Given the description of an element on the screen output the (x, y) to click on. 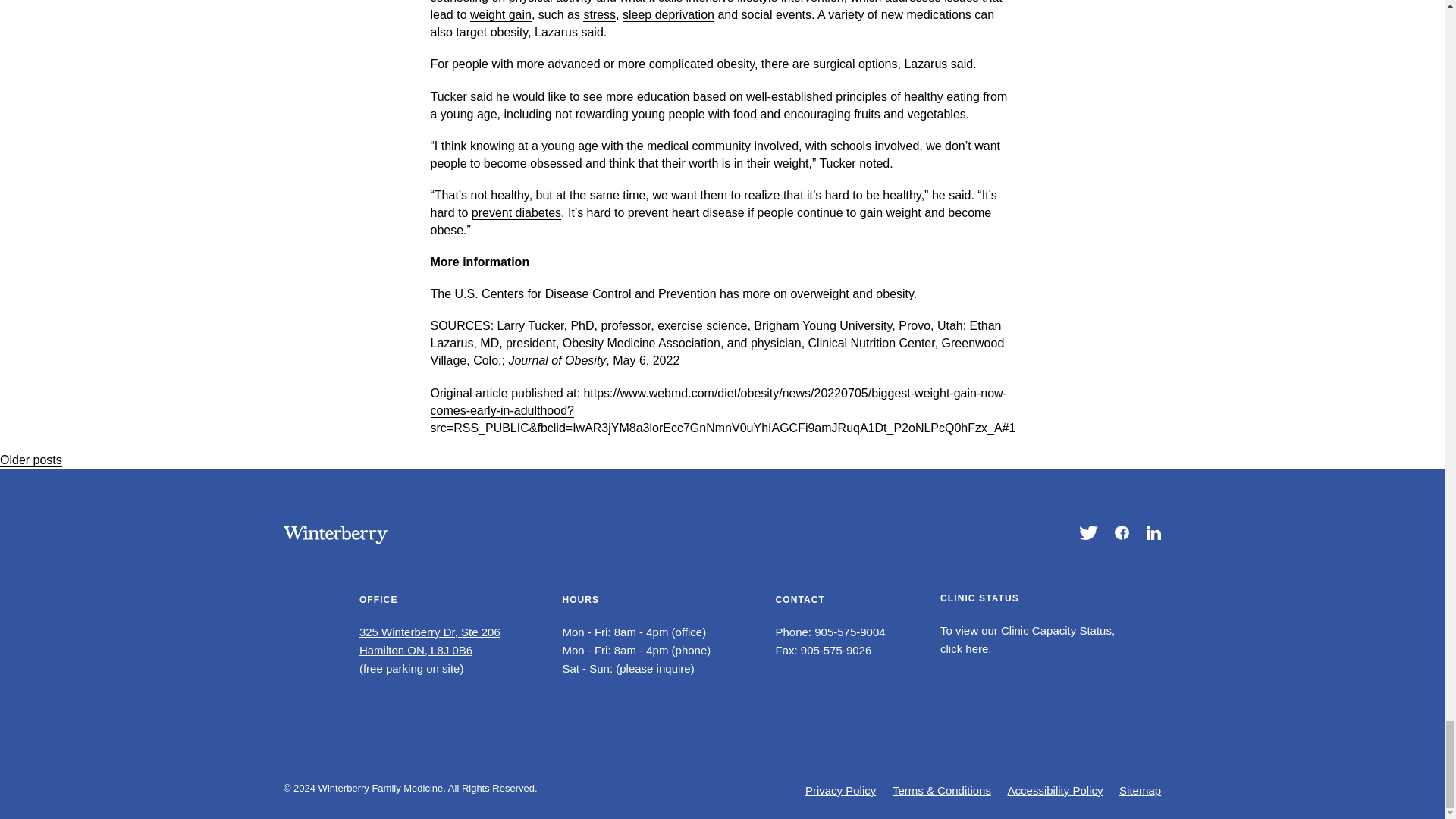
Follow us on Twitter (1087, 532)
Follow us on Facebook (1122, 532)
Winterberry Logo (335, 534)
Follow us on LinkedIn (1153, 532)
